Given the description of an element on the screen output the (x, y) to click on. 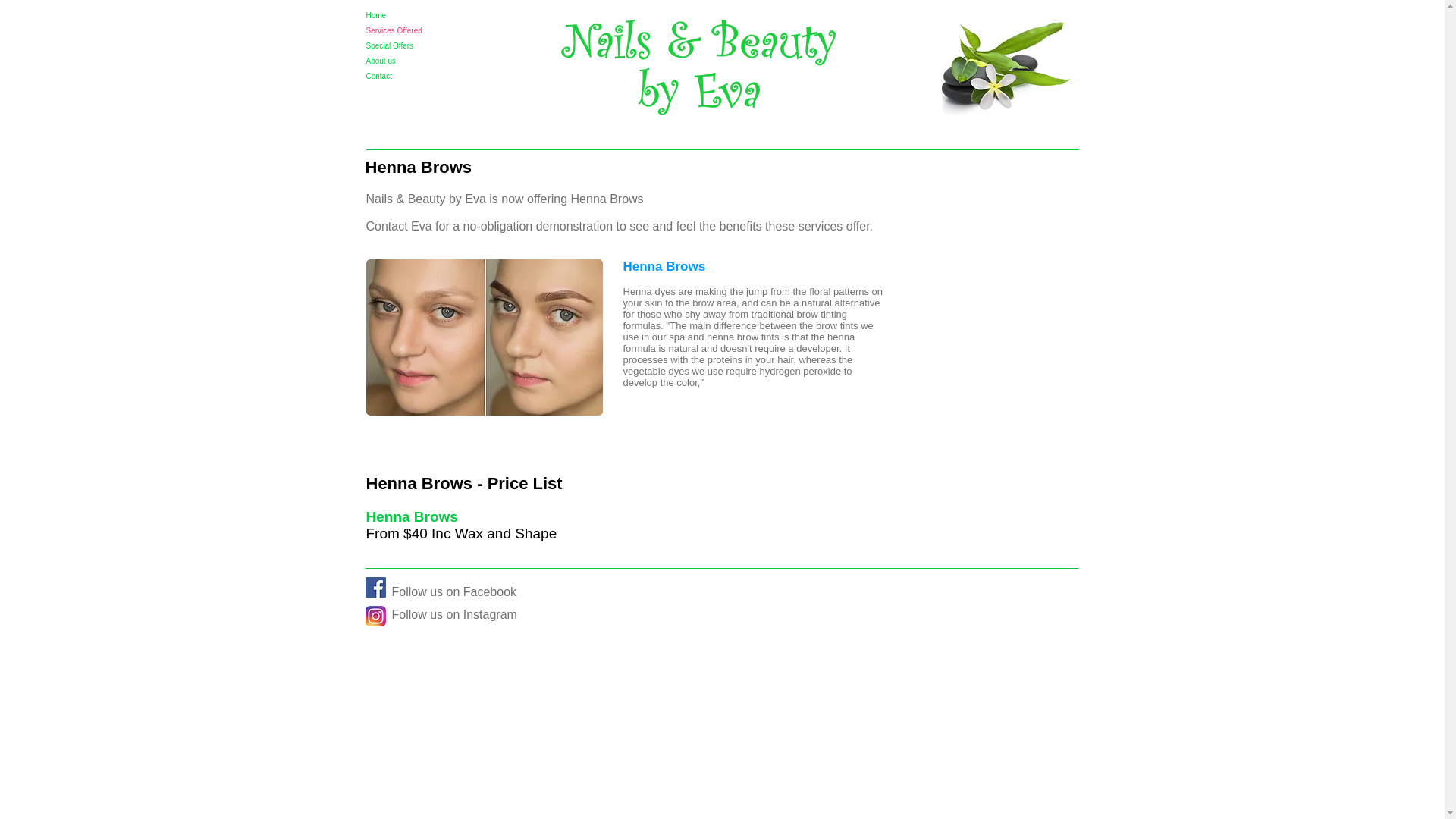
Services Offered (435, 30)
Special Offers (435, 46)
Facebook Like (983, 612)
Home (435, 15)
About us (435, 61)
Contact (435, 76)
